Given the description of an element on the screen output the (x, y) to click on. 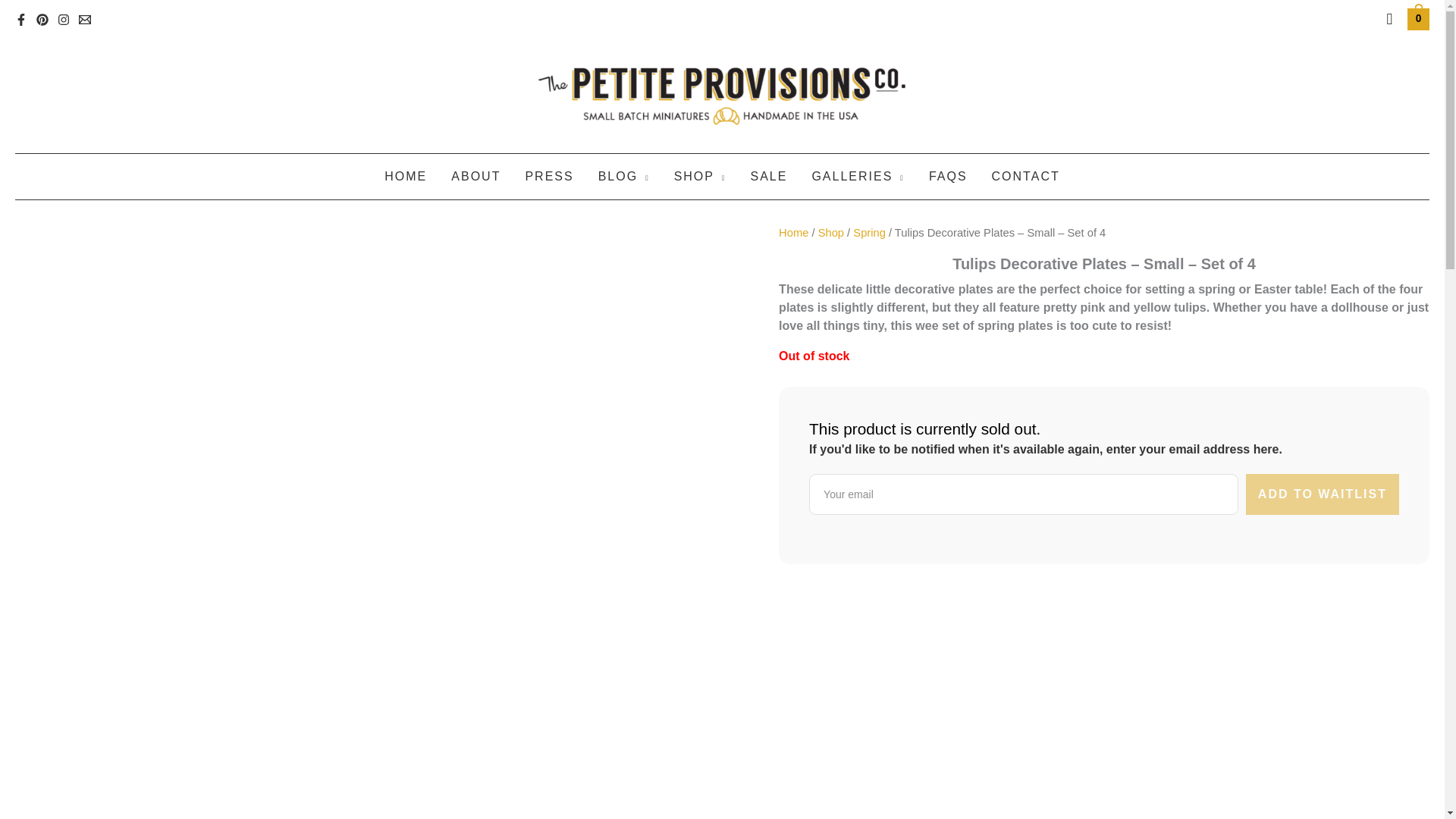
Add to waitlist (1322, 494)
PRESS (548, 176)
0 (1418, 18)
HOME (405, 176)
SHOP (700, 176)
ABOUT (475, 176)
SALE (768, 176)
GALLERIES (857, 176)
BLOG (624, 176)
